Given the description of an element on the screen output the (x, y) to click on. 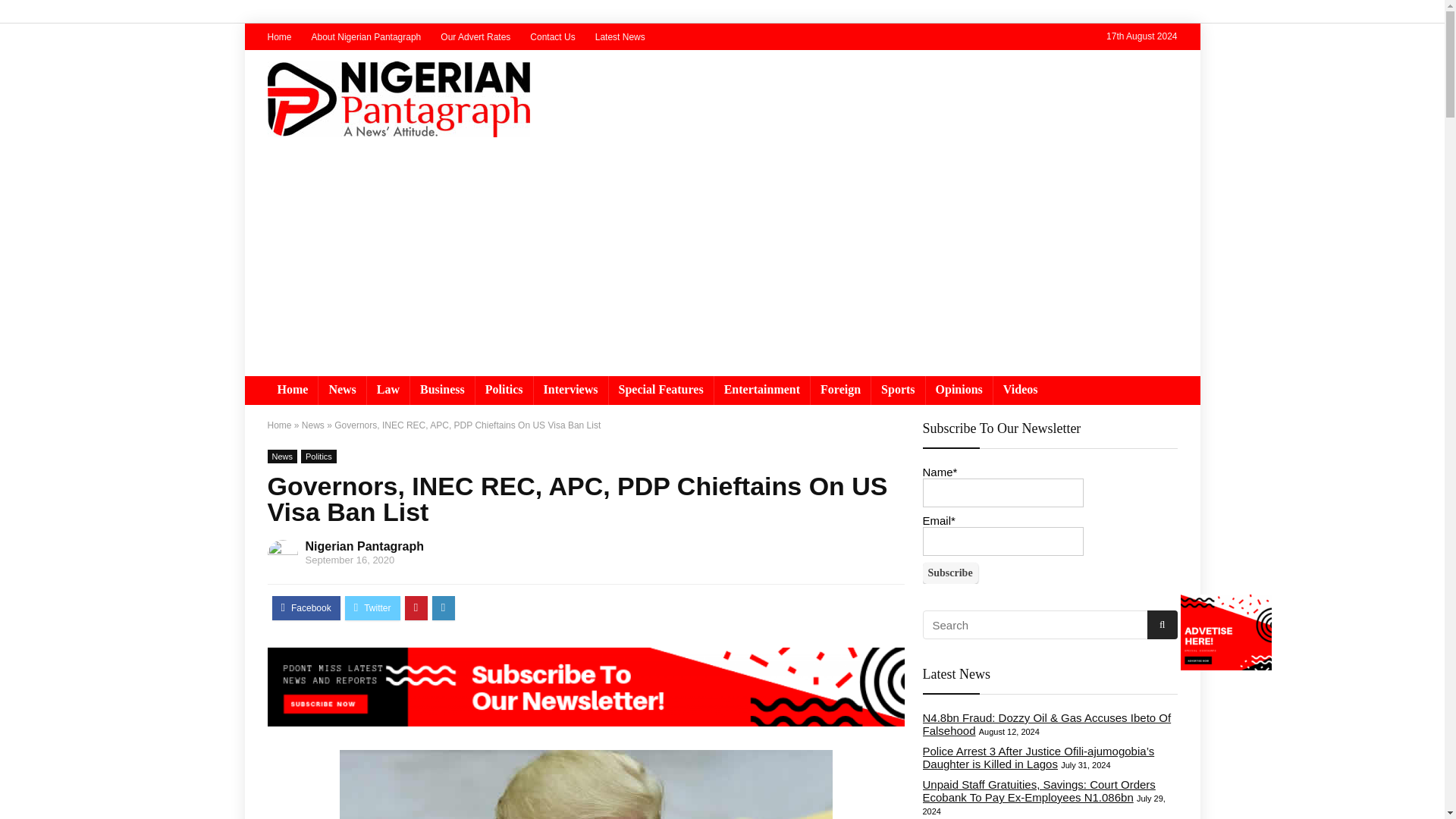
Politics (504, 389)
Law (387, 389)
About Nigerian Pantagraph (366, 36)
Sports (897, 389)
Subscribe (948, 572)
Entertainment (761, 389)
View all posts in News (281, 456)
View all posts in Politics (318, 456)
Foreign (840, 389)
